Given the description of an element on the screen output the (x, y) to click on. 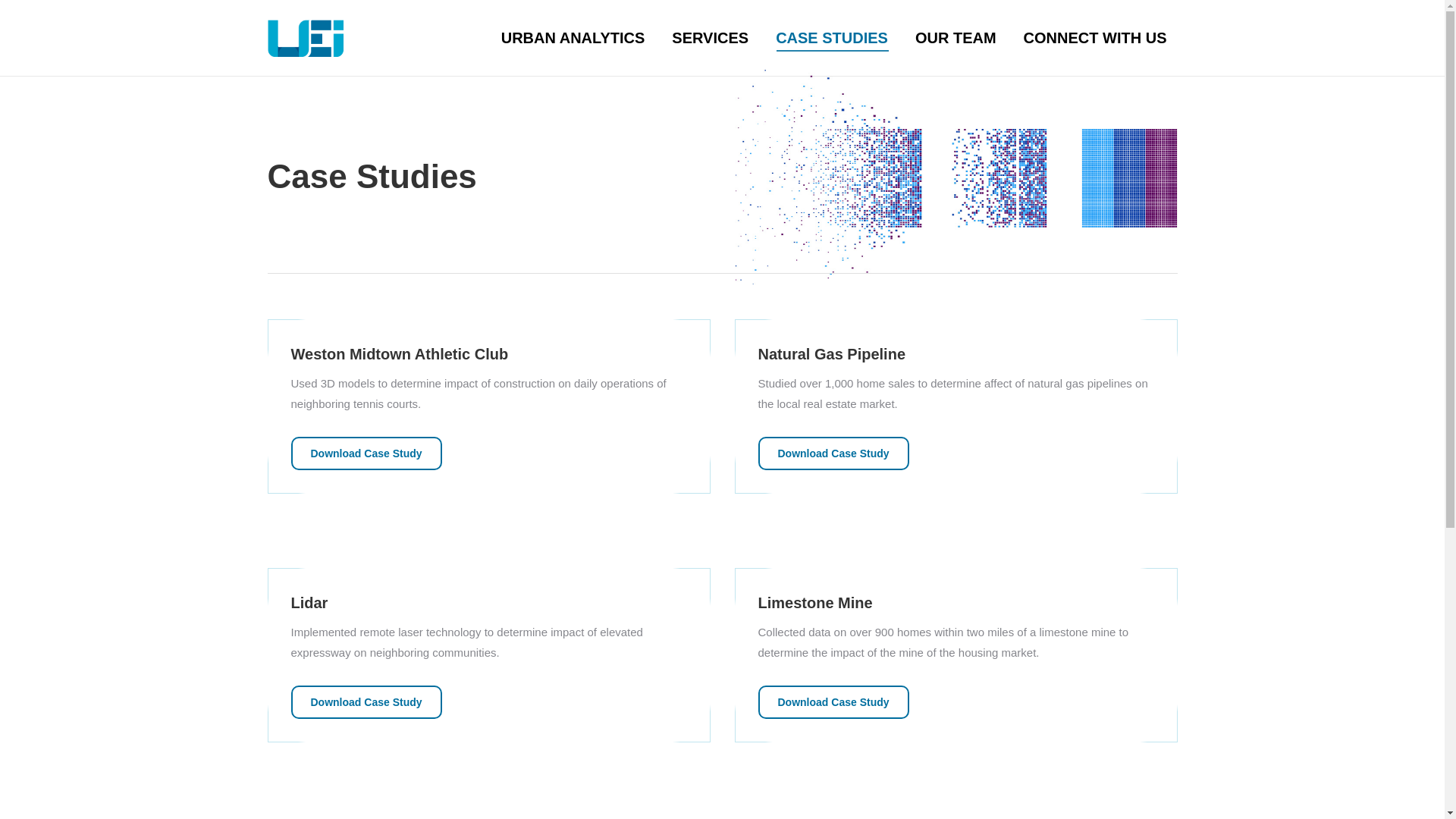
CONNECT WITH US (1095, 37)
URBAN ANALYTICS (573, 37)
Download Case Study (833, 702)
Download Case Study (366, 453)
OUR TEAM (955, 37)
SERVICES (709, 37)
CASE STUDIES (831, 37)
Download Case Study (366, 702)
Download Case Study (833, 453)
